Given the description of an element on the screen output the (x, y) to click on. 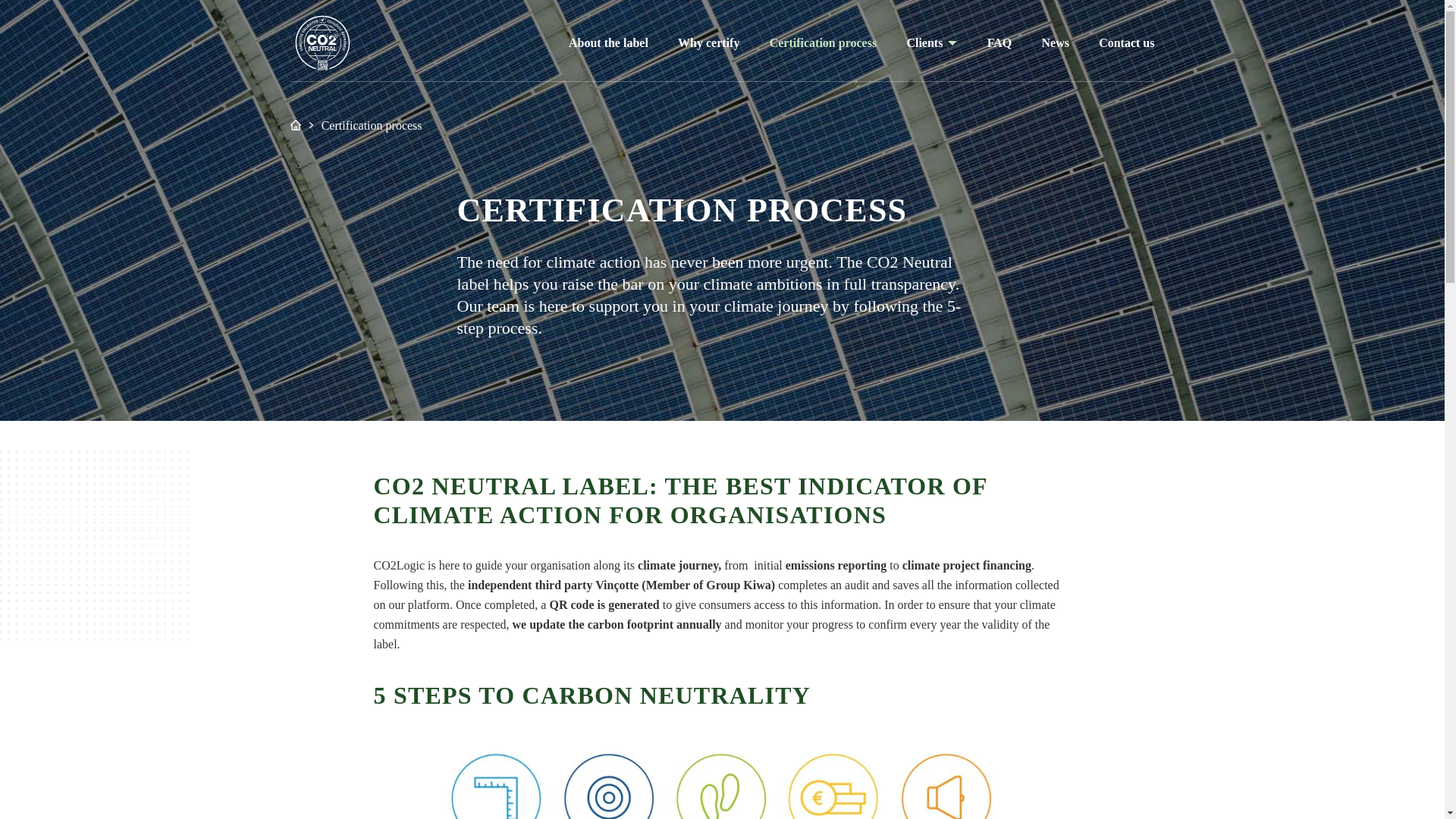
FAQ (999, 42)
About the label (608, 42)
Certification process (823, 42)
Why certify (708, 42)
Contact us (1126, 42)
News (1054, 42)
Clients (923, 43)
